Given the description of an element on the screen output the (x, y) to click on. 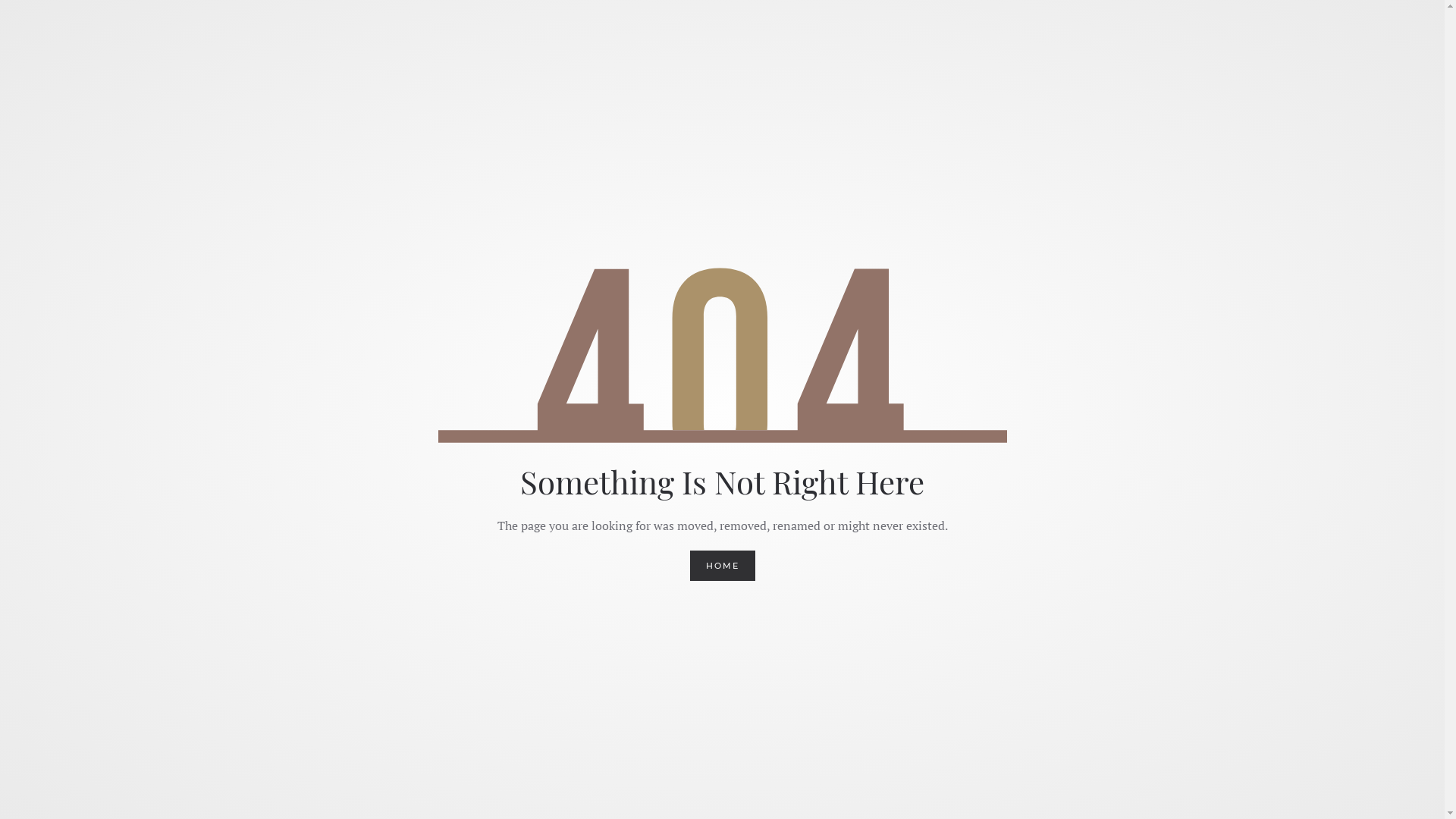
Error 404 Element type: hover (722, 354)
HOME Element type: text (722, 565)
